Given the description of an element on the screen output the (x, y) to click on. 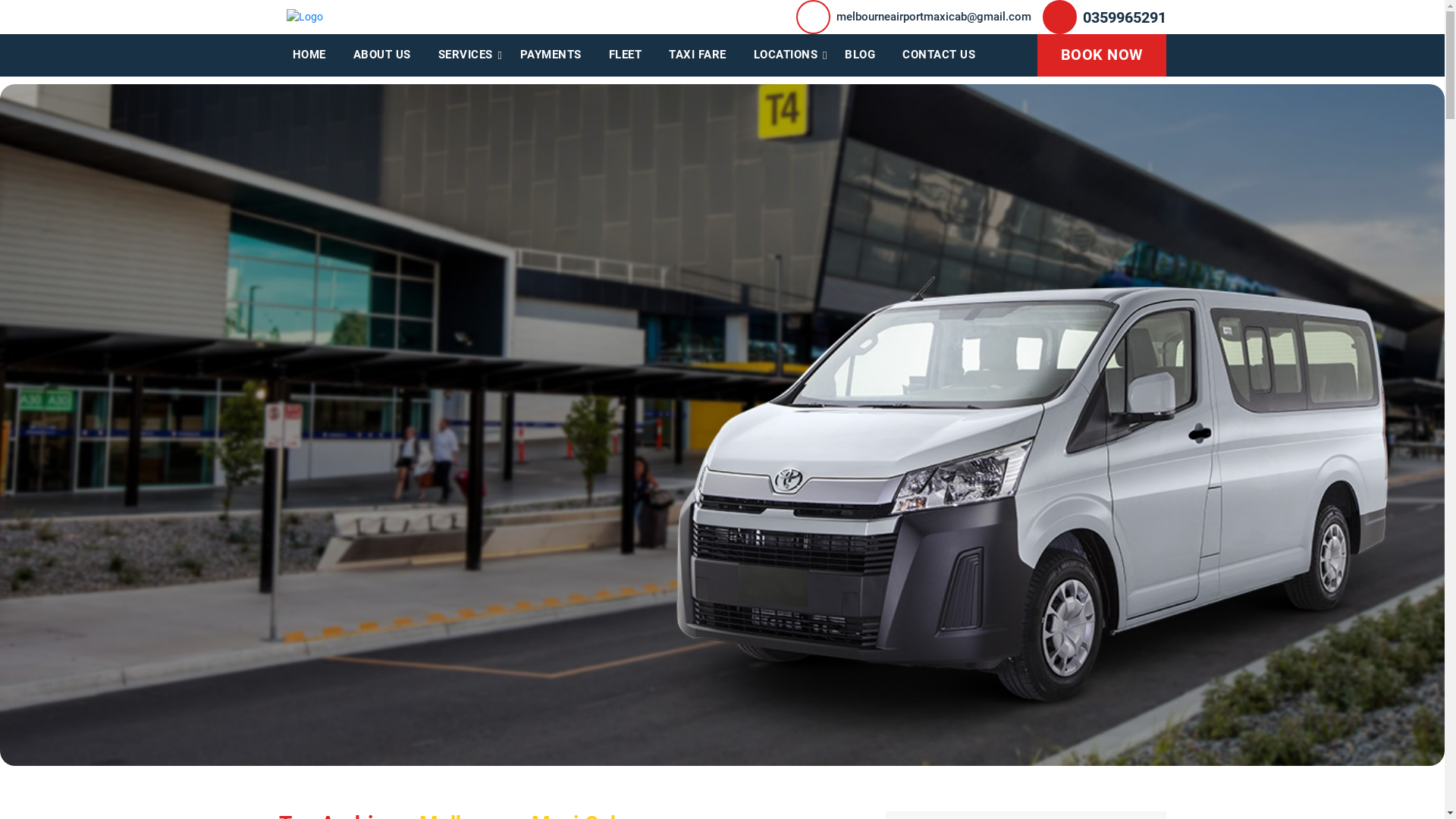
CONTACT US Element type: text (938, 54)
BLOG Element type: text (859, 54)
TAXI FARE Element type: text (697, 54)
BOOK NOW Element type: text (1101, 54)
melbourneairportmaxicab@gmail.com Element type: text (932, 16)
HOME Element type: text (309, 54)
0359965291 Element type: text (1124, 16)
FLEET Element type: text (624, 54)
SERVICES Element type: text (465, 54)
LOCATIONS Element type: text (785, 54)
ABOUT US Element type: text (381, 54)
PAYMENTS Element type: text (550, 54)
